Given the description of an element on the screen output the (x, y) to click on. 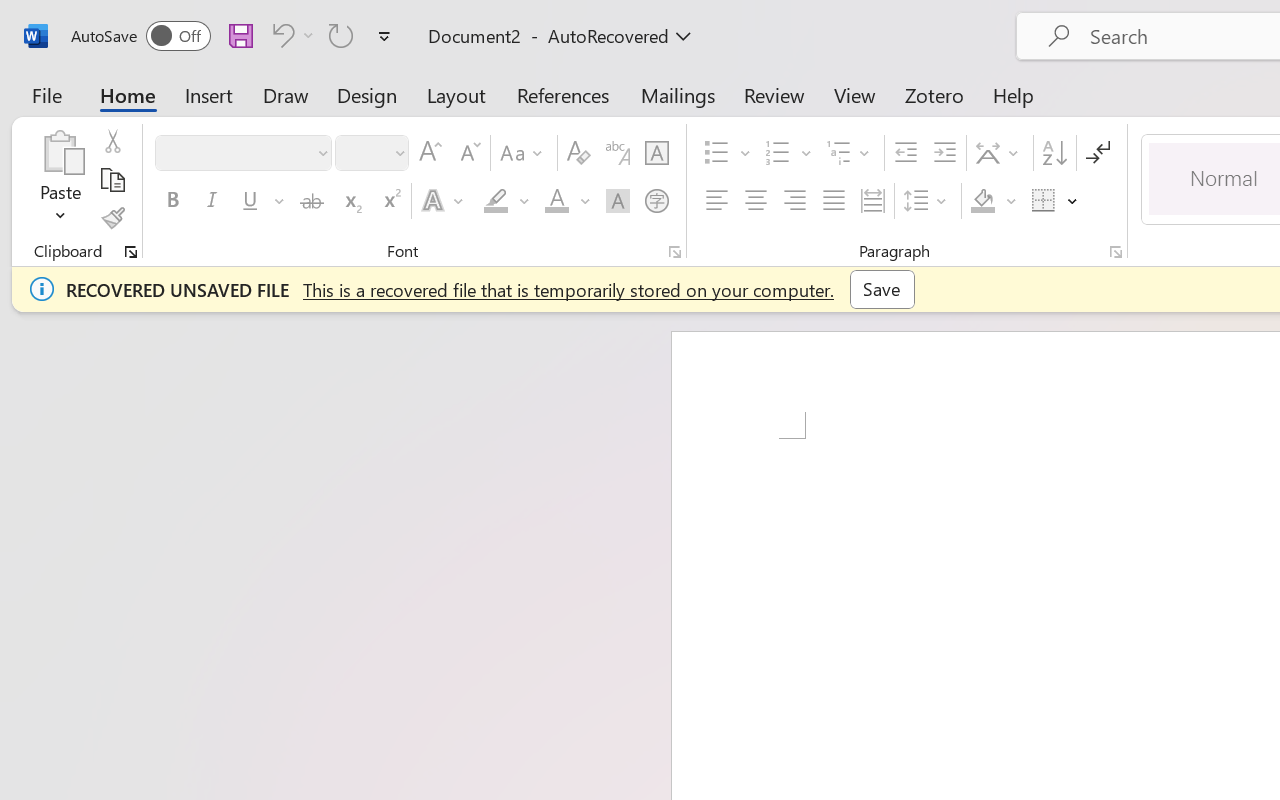
Can't Undo (290, 35)
Can't Undo (280, 35)
Enclose Characters... (656, 201)
Center (756, 201)
Italic (212, 201)
Change Case (524, 153)
Text Highlight Color (506, 201)
Font Color RGB(255, 0, 0) (556, 201)
